Given the description of an element on the screen output the (x, y) to click on. 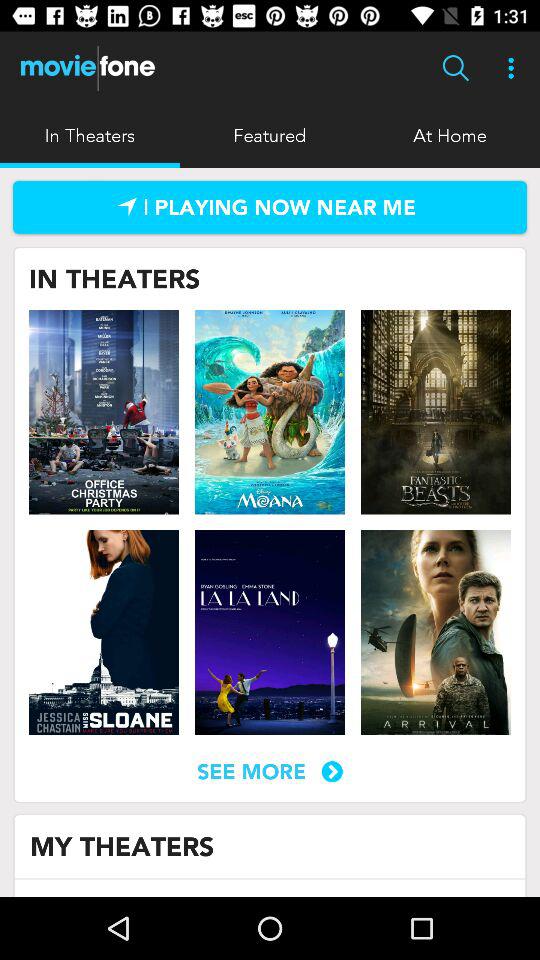
play link (269, 207)
